Given the description of an element on the screen output the (x, y) to click on. 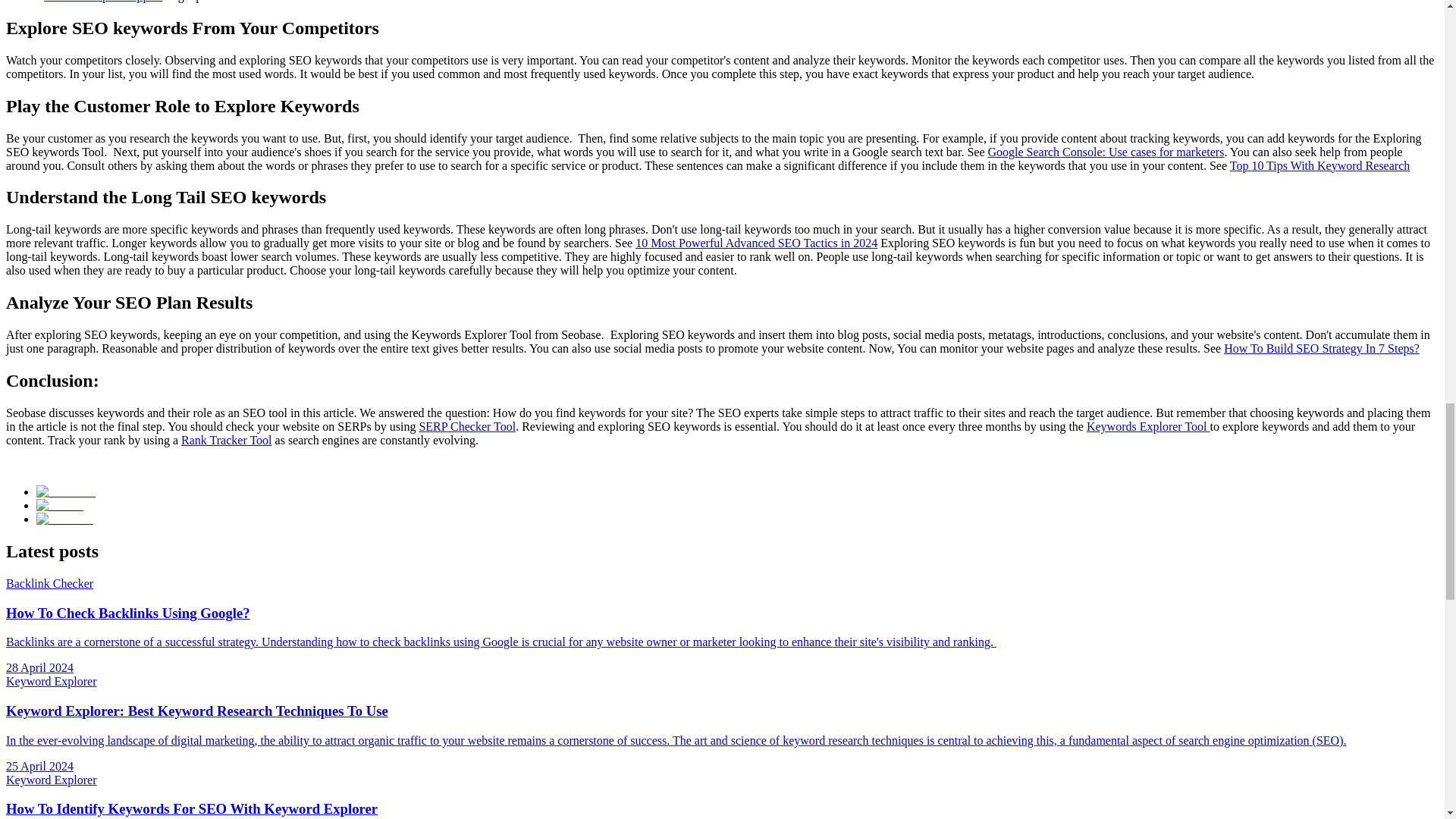
How To Build SEO Strategy In 7 Steps? (1321, 348)
Rank Tracker Tool (225, 440)
Top 10 Tips With Keyword Research (1319, 164)
Google Search Console: Use cases for marketers (1105, 151)
Keywords Explorer Tool (1147, 426)
10 Most Powerful Advanced SEO Tactics in 2024 (755, 242)
SERP Checker Tool (467, 426)
